Given the description of an element on the screen output the (x, y) to click on. 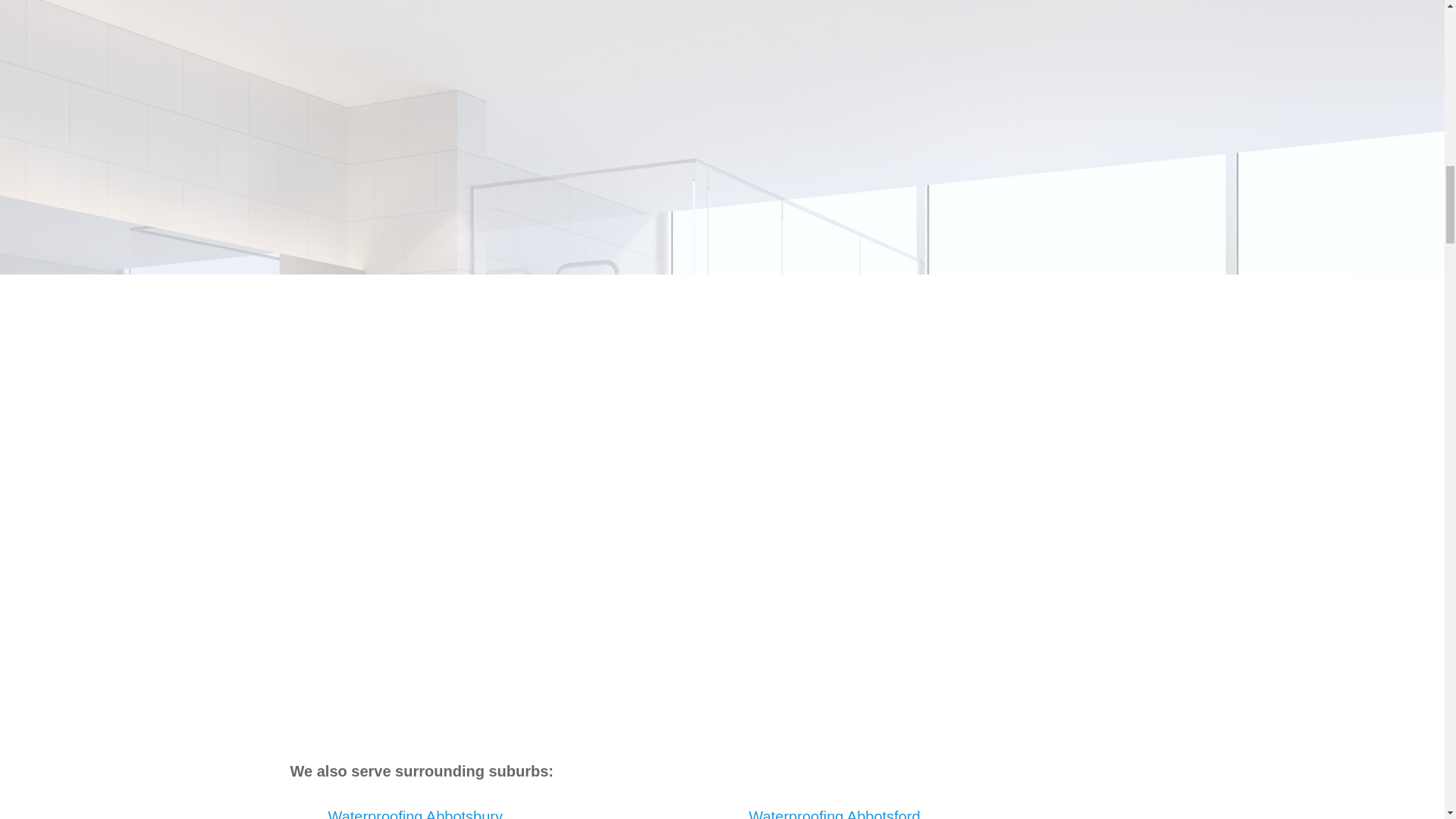
Waterproofing Abbotsford (834, 813)
Waterproofing Abbotsbury (414, 813)
Waterproofing Abbotsbury (414, 813)
Waterproofing Abbotsford (834, 813)
